Given the description of an element on the screen output the (x, y) to click on. 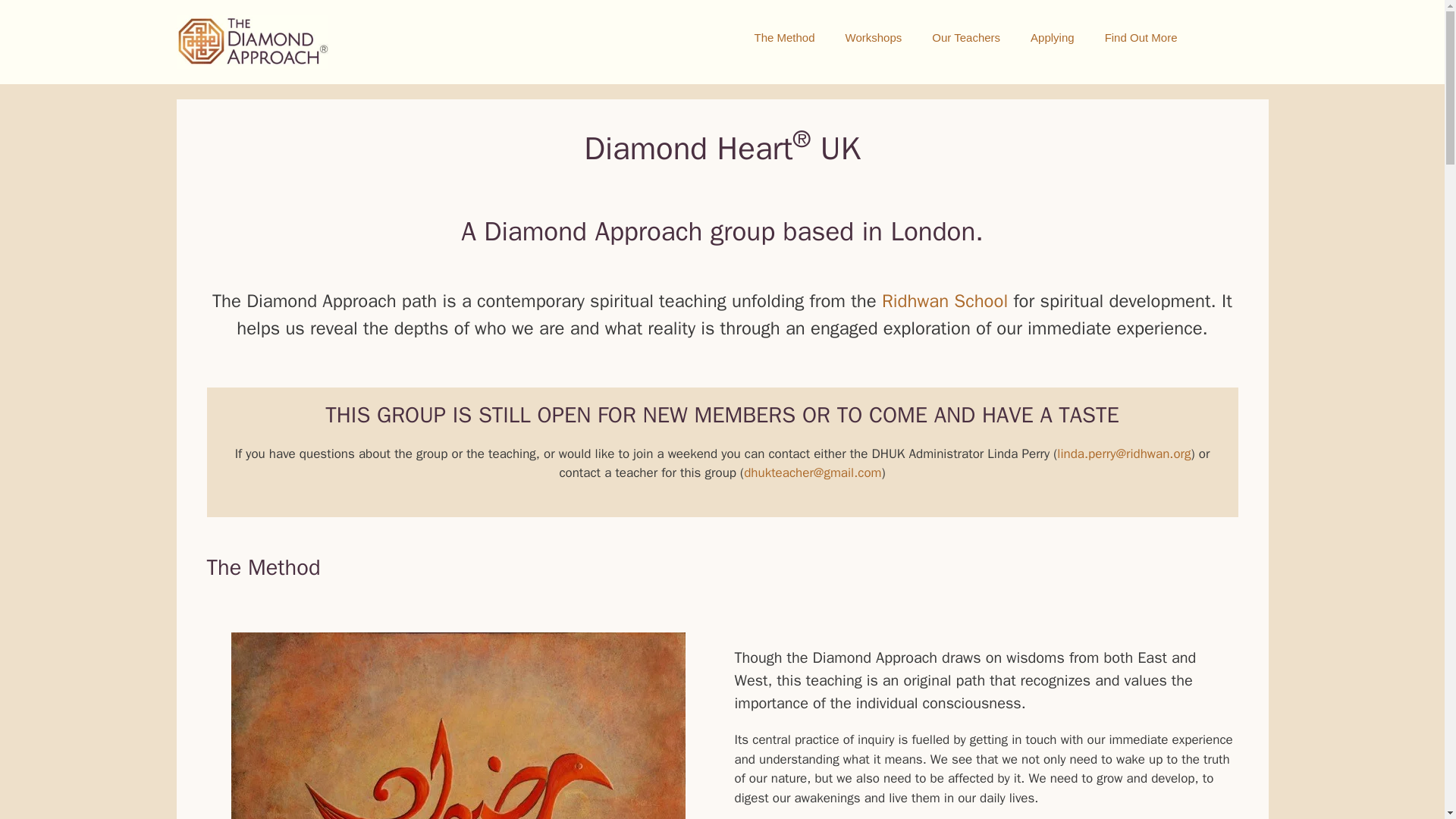
Workshops (873, 37)
Find Out More (1140, 37)
The Method (783, 37)
The Method (783, 37)
Find Out More (1140, 37)
Our Teachers (965, 37)
Our Teachers (965, 37)
Applying (1051, 37)
Workshops (873, 37)
Ridhwan School (944, 300)
Applying (1051, 37)
